Given the description of an element on the screen output the (x, y) to click on. 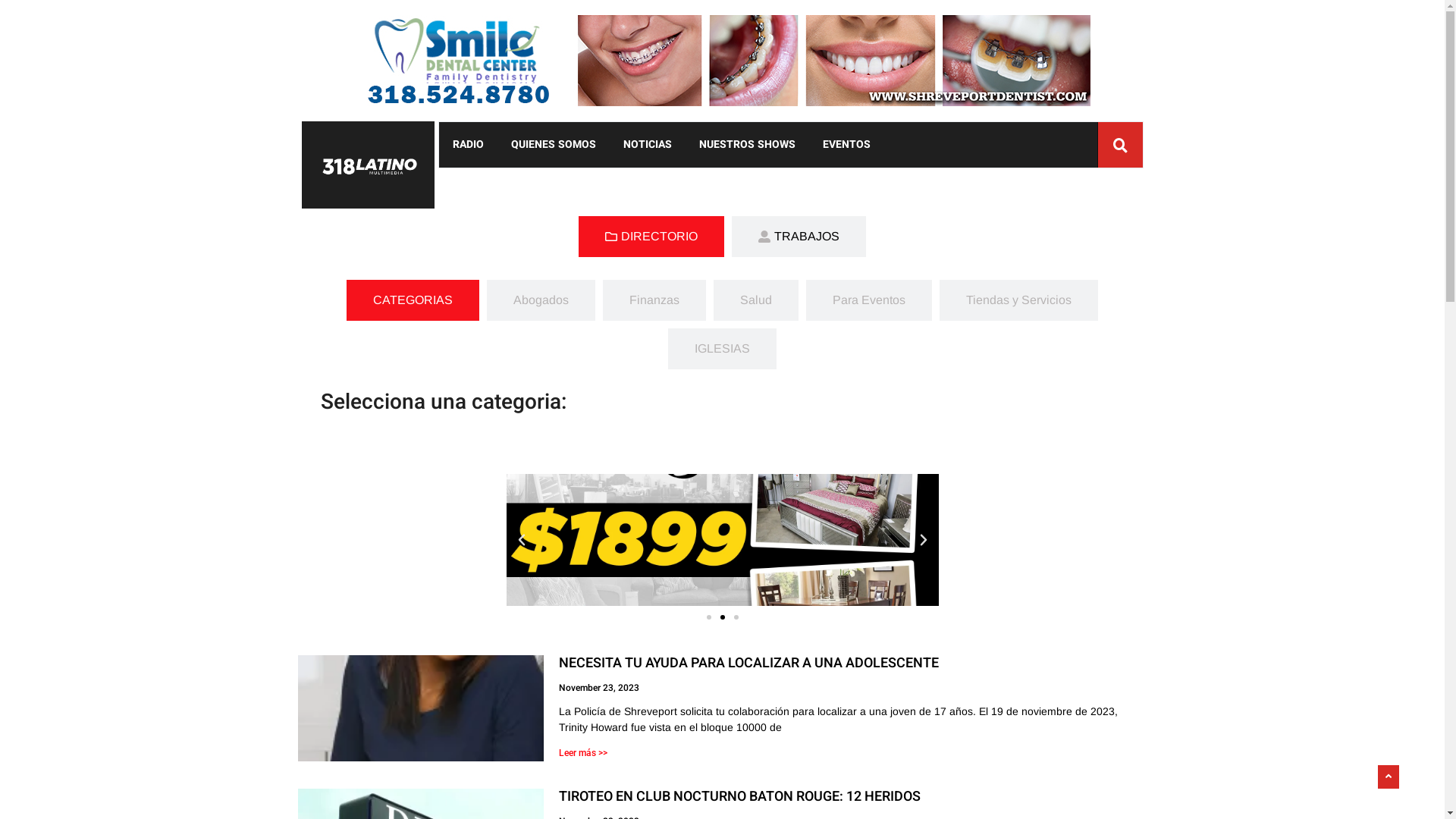
NOTICIAS Element type: text (647, 144)
TIROTEO EN CLUB NOCTURNO BATON ROUGE: 12 HERIDOS Element type: text (739, 796)
RADIO Element type: text (467, 144)
QUIENES SOMOS Element type: text (553, 144)
NECESITA TU AYUDA PARA LOCALIZAR A UNA ADOLESCENTE Element type: text (748, 662)
NUESTROS SHOWS Element type: text (747, 144)
EVENTOS Element type: text (845, 144)
Back to Top Element type: hover (1388, 776)
